Given the description of an element on the screen output the (x, y) to click on. 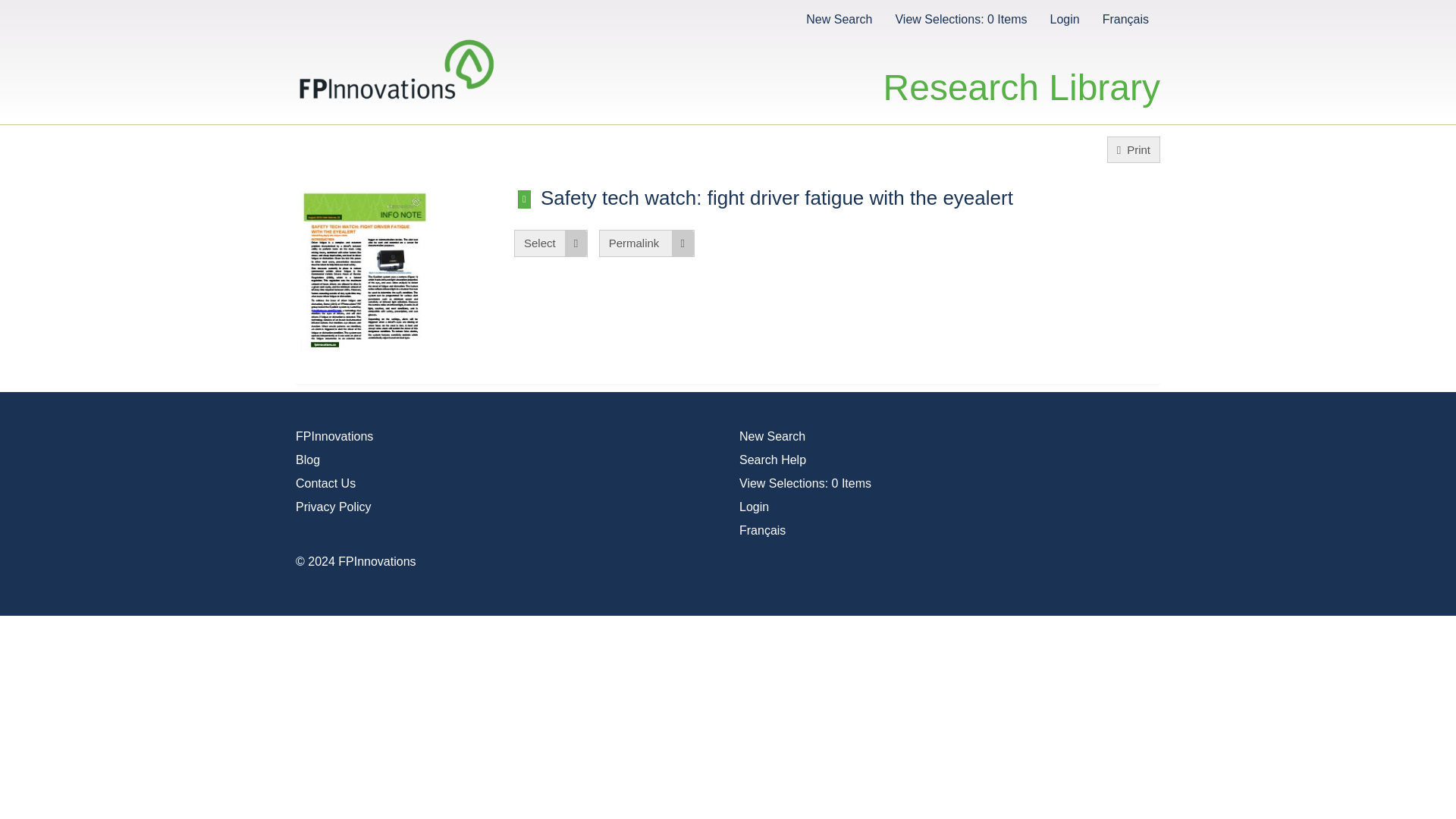
Blog (307, 459)
Toggle Full Record (524, 199)
Research Library (1021, 71)
Contact Us (325, 482)
Privacy Policy (333, 506)
Search Help (772, 459)
Toggle Full Record (524, 199)
FPInnovations (333, 436)
Select (550, 243)
Login (1064, 18)
New Search (772, 436)
Permalink (646, 243)
New Search (838, 18)
Permalink (646, 243)
Login (753, 506)
